Given the description of an element on the screen output the (x, y) to click on. 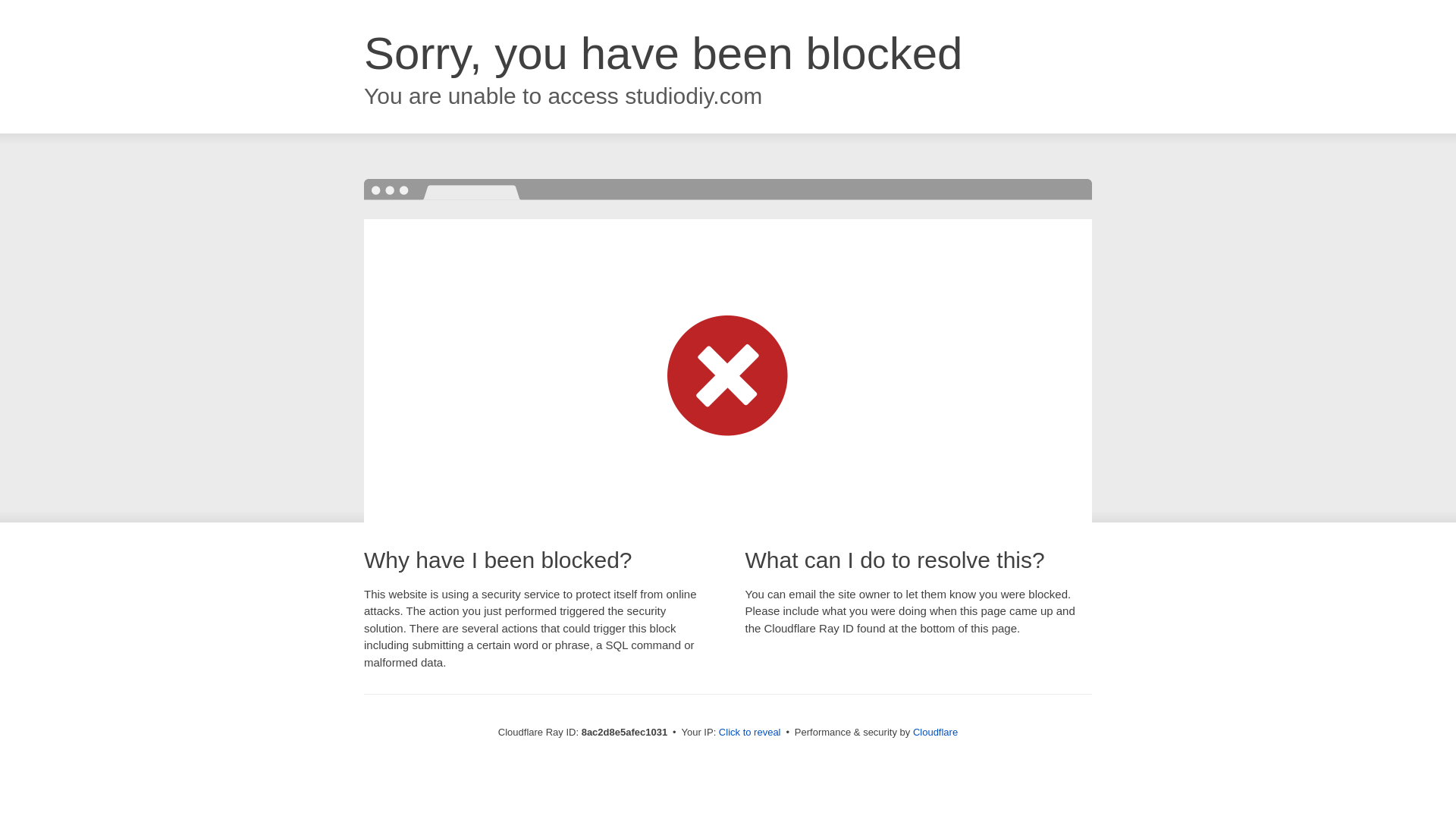
Cloudflare (935, 731)
Click to reveal (749, 732)
